Given the description of an element on the screen output the (x, y) to click on. 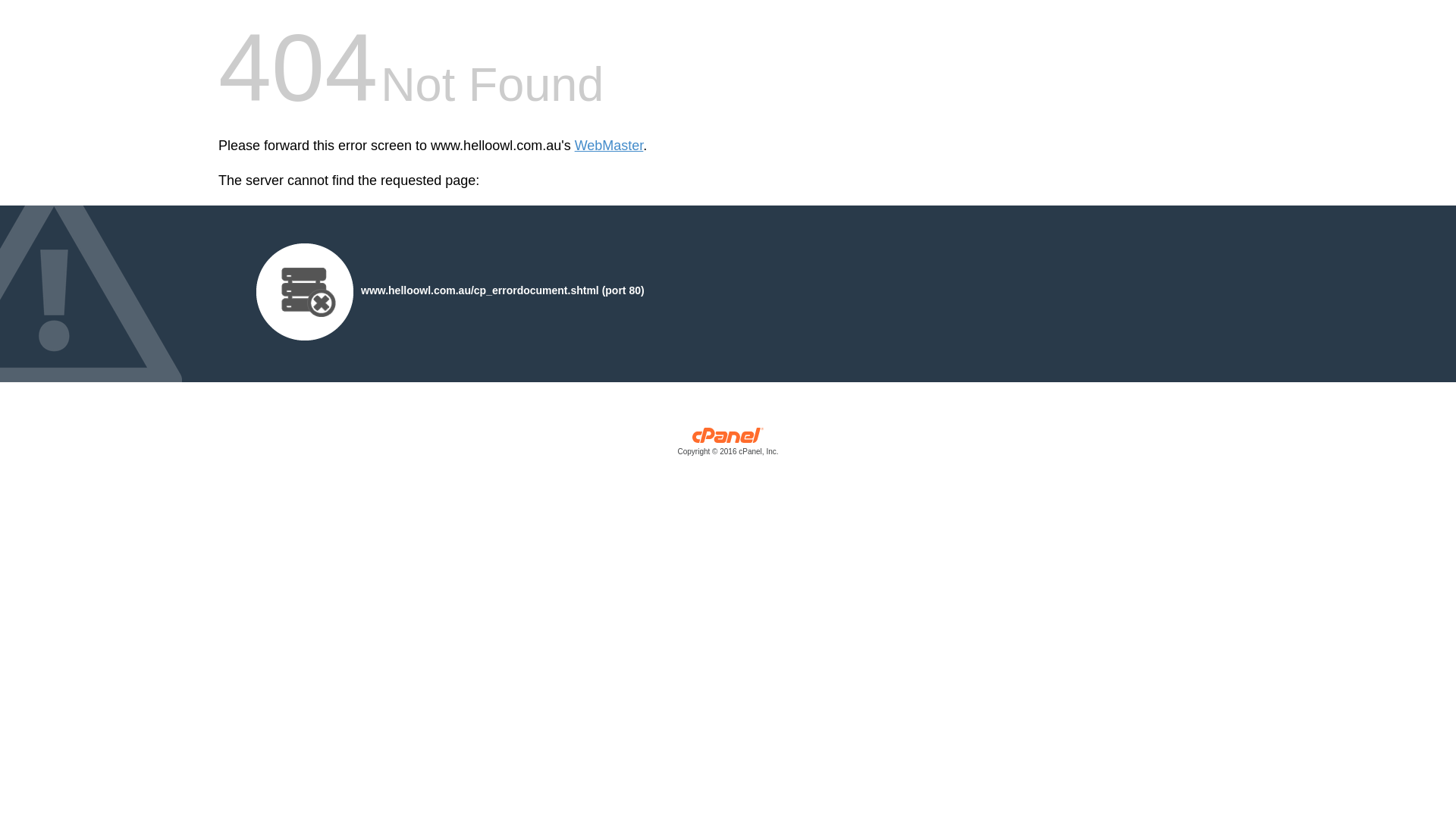
WebMaster Element type: text (608, 145)
